Given the description of an element on the screen output the (x, y) to click on. 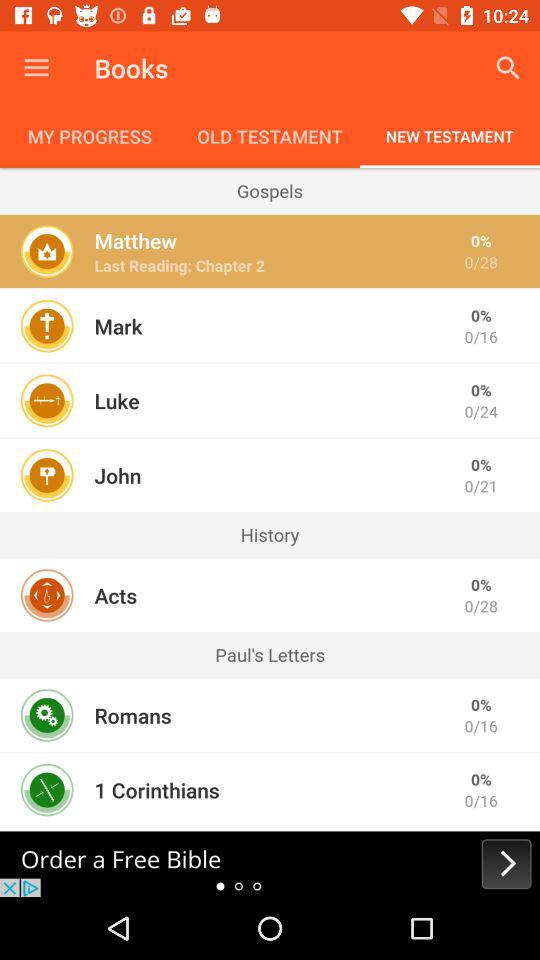
select item next to 0/28 (179, 265)
